Given the description of an element on the screen output the (x, y) to click on. 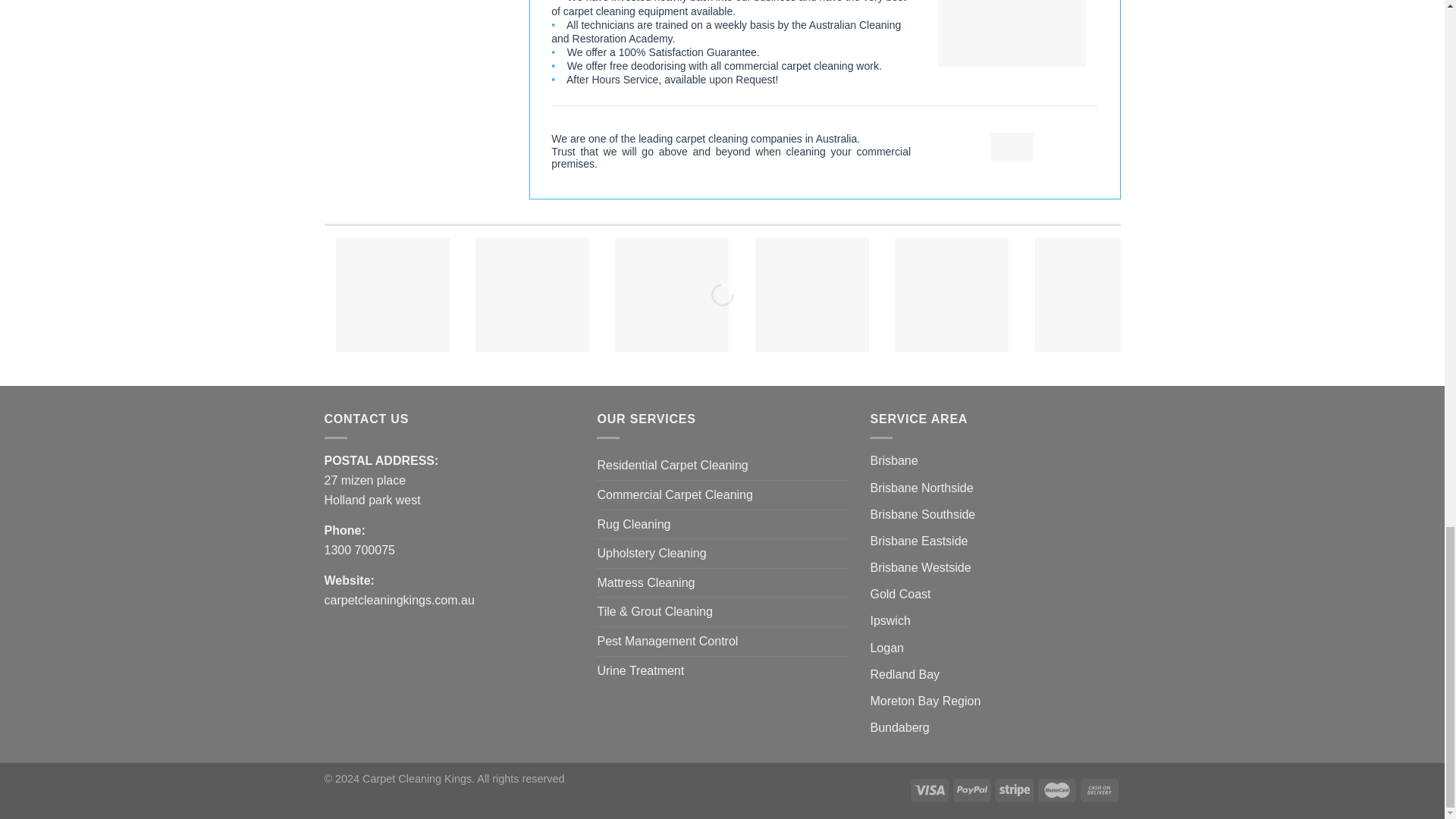
 Scria Logo (1091, 295)
 IICRC Logo (531, 294)
 IICRC Logo (532, 295)
 ATFA Logo (812, 294)
 Scria Logo (1091, 294)
 RIA Logo (1371, 294)
 ATFA Logo (812, 295)
 RIA Logo (1371, 295)
